Given the description of an element on the screen output the (x, y) to click on. 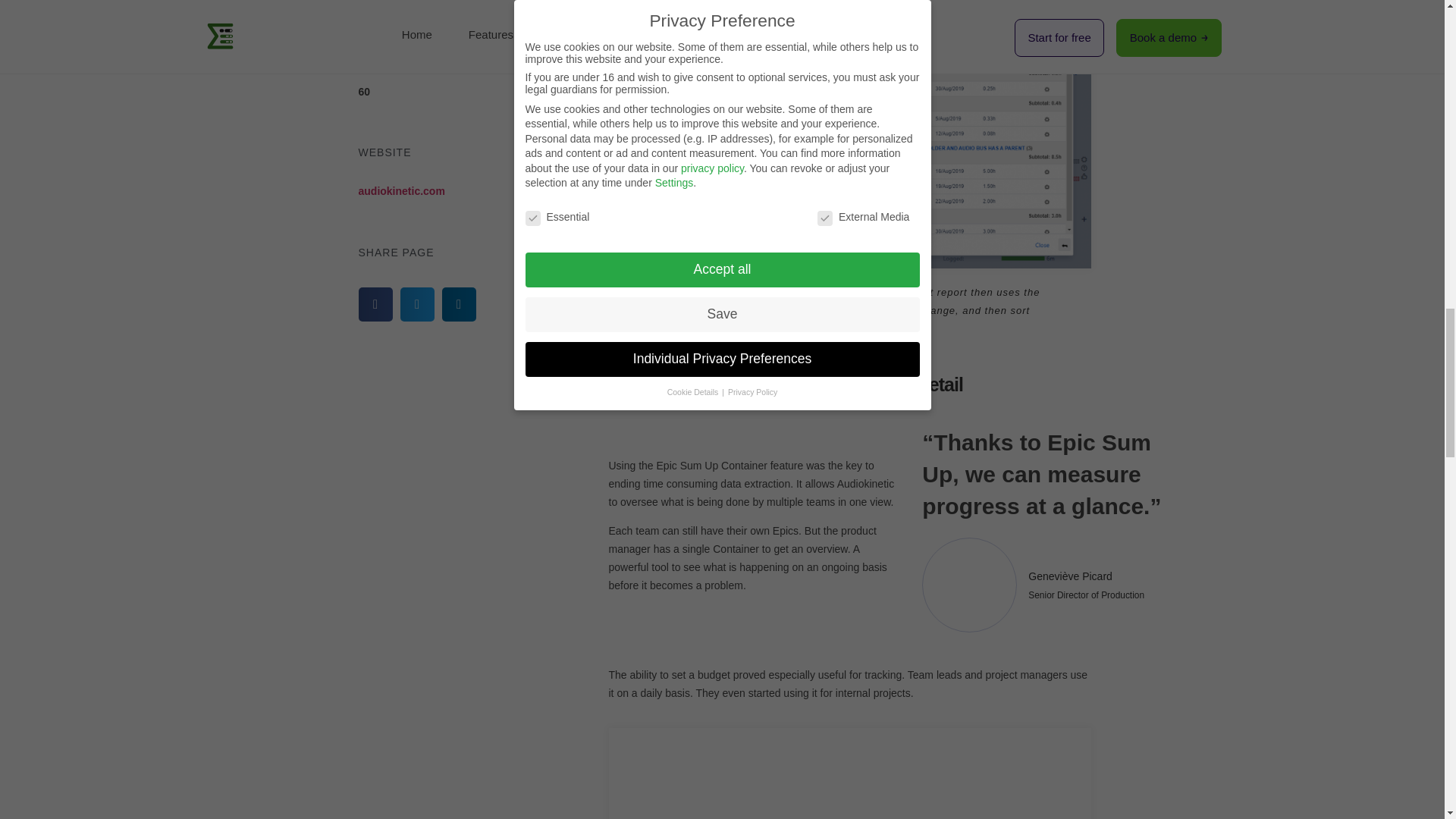
audiokinetic.com (401, 191)
